Given the description of an element on the screen output the (x, y) to click on. 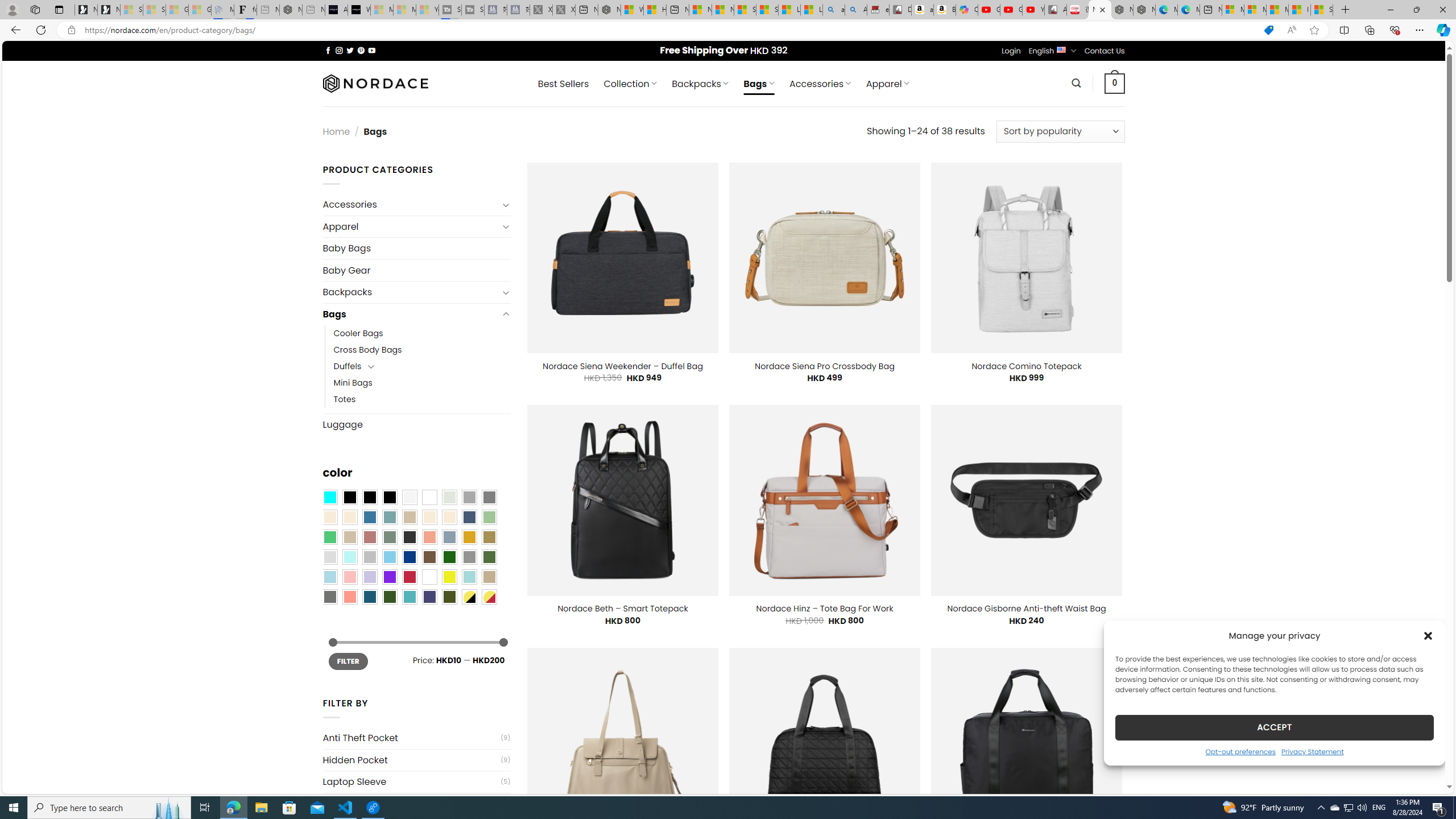
Beige-Brown (349, 517)
Charcoal (408, 536)
Follow on Pinterest (360, 49)
Light Purple (369, 577)
Army Green (449, 596)
Copilot (966, 9)
Nordace Siena Pro Crossbody Bag (823, 365)
Ash Gray (449, 497)
